Given the description of an element on the screen output the (x, y) to click on. 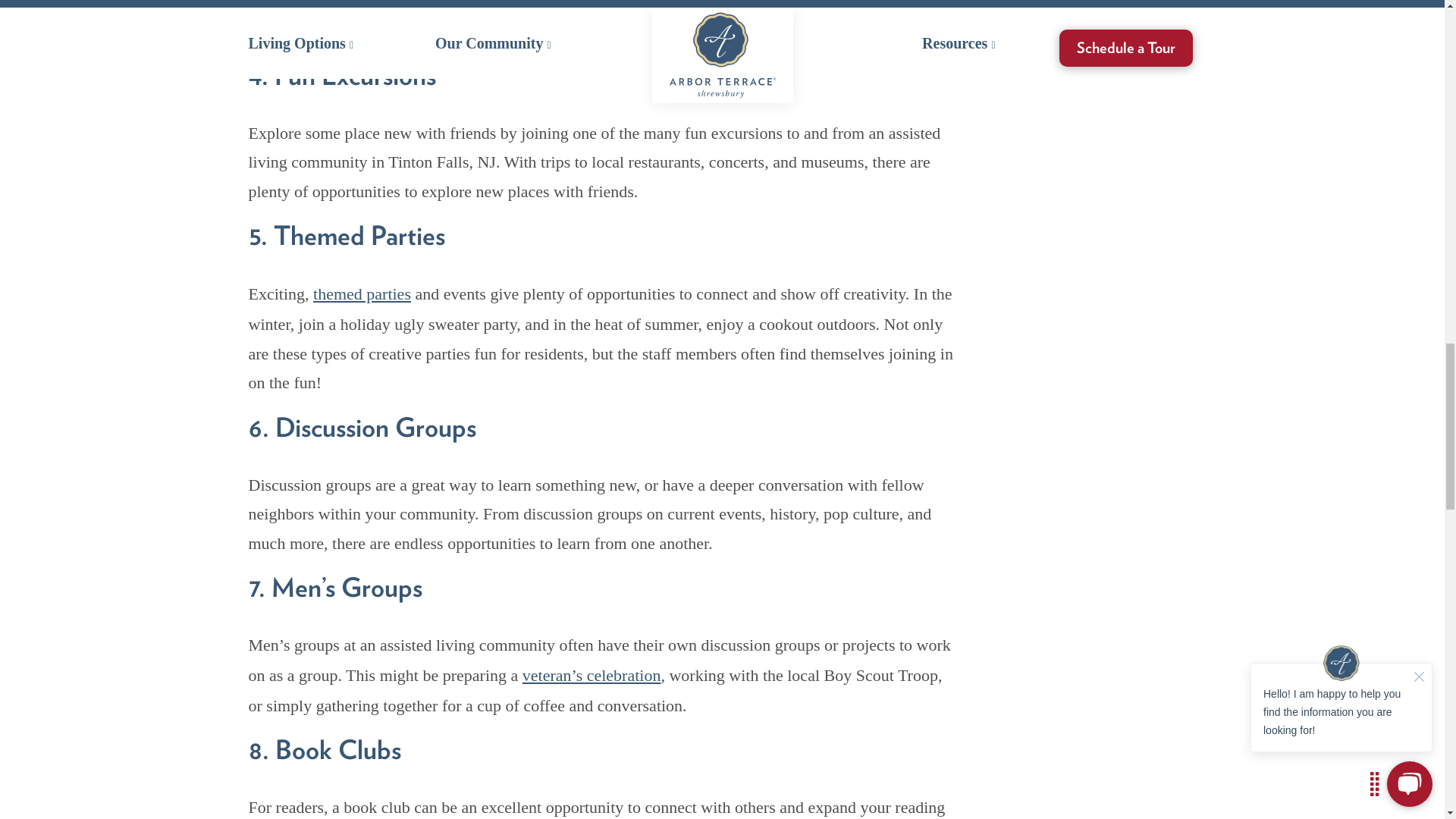
themed parties (361, 293)
